Given the description of an element on the screen output the (x, y) to click on. 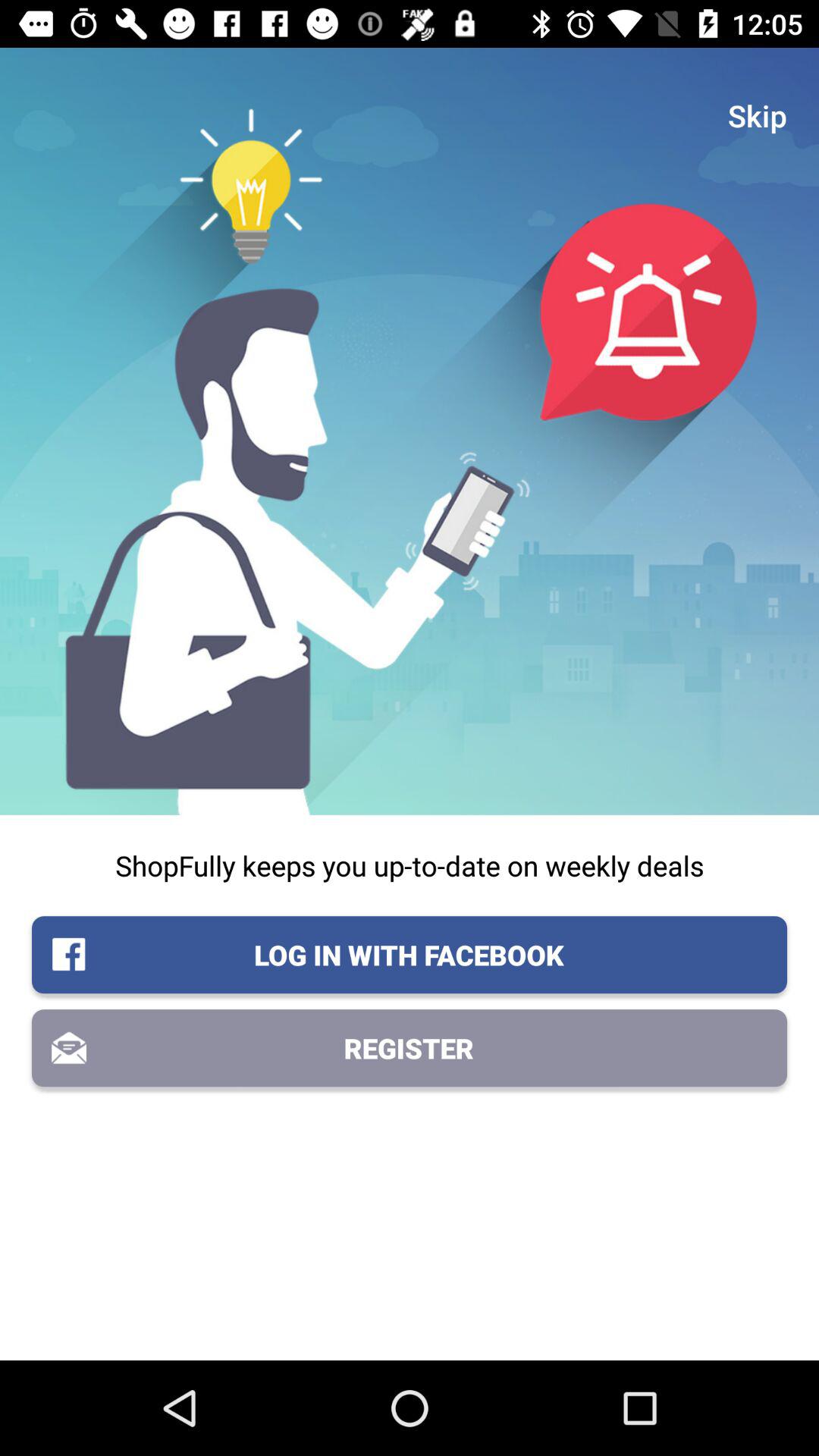
tap the icon above the shopfully keeps you icon (757, 115)
